Given the description of an element on the screen output the (x, y) to click on. 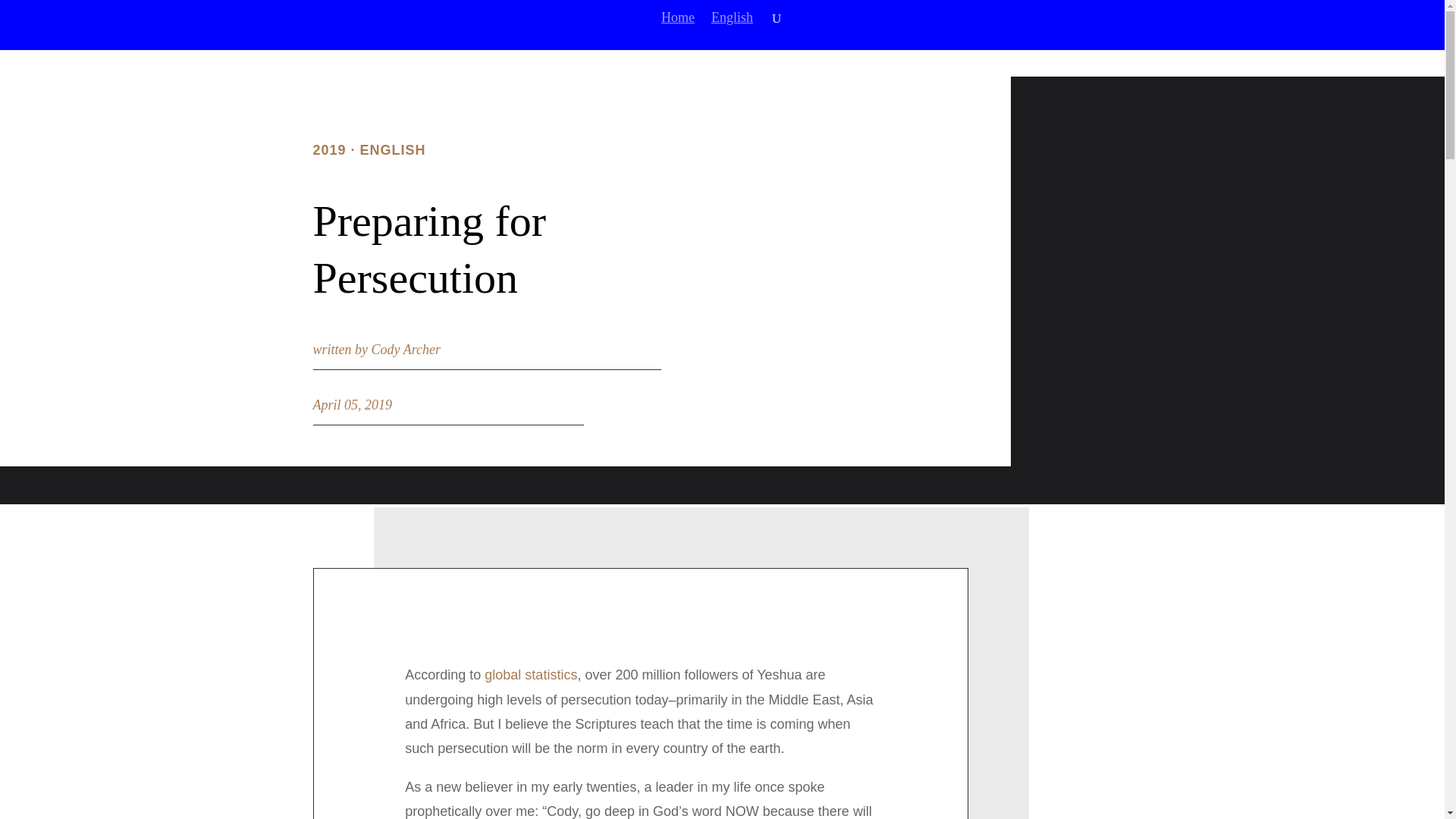
2019 (329, 150)
English (731, 30)
global statistics (530, 674)
Cody Archer (406, 349)
ENGLISH (392, 150)
